Given the description of an element on the screen output the (x, y) to click on. 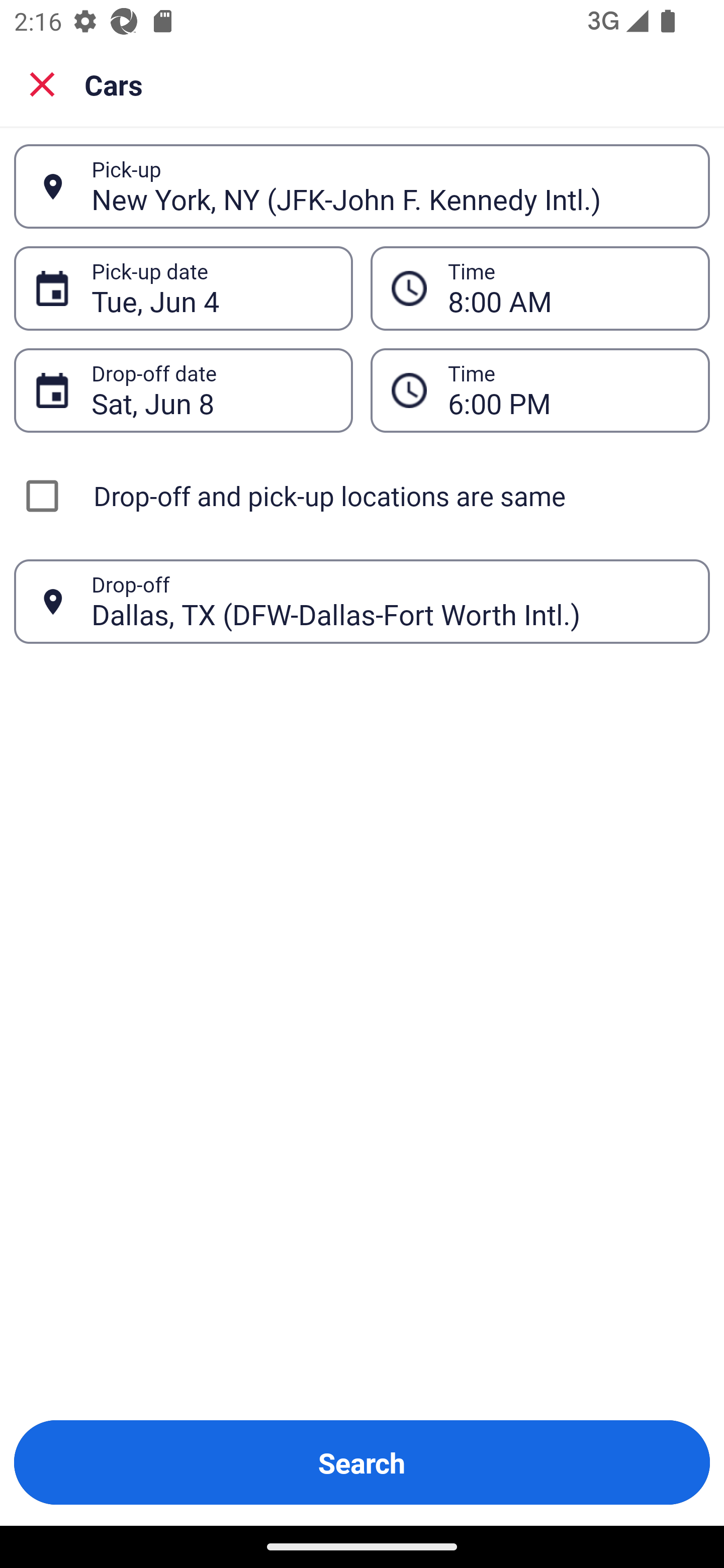
Close search screen (41, 83)
New York, NY (JFK-John F. Kennedy Intl.) Pick-up (361, 186)
New York, NY (JFK-John F. Kennedy Intl.) (389, 186)
Tue, Jun 4 Pick-up date (183, 288)
8:00 AM (540, 288)
Tue, Jun 4 (211, 288)
8:00 AM (568, 288)
Sat, Jun 8 Drop-off date (183, 390)
6:00 PM (540, 390)
Sat, Jun 8 (211, 390)
6:00 PM (568, 390)
Drop-off and pick-up locations are same (361, 495)
Dallas, TX (DFW-Dallas-Fort Worth Intl.) Drop-off (361, 601)
Dallas, TX (DFW-Dallas-Fort Worth Intl.) (389, 601)
Search Button Search (361, 1462)
